Given the description of an element on the screen output the (x, y) to click on. 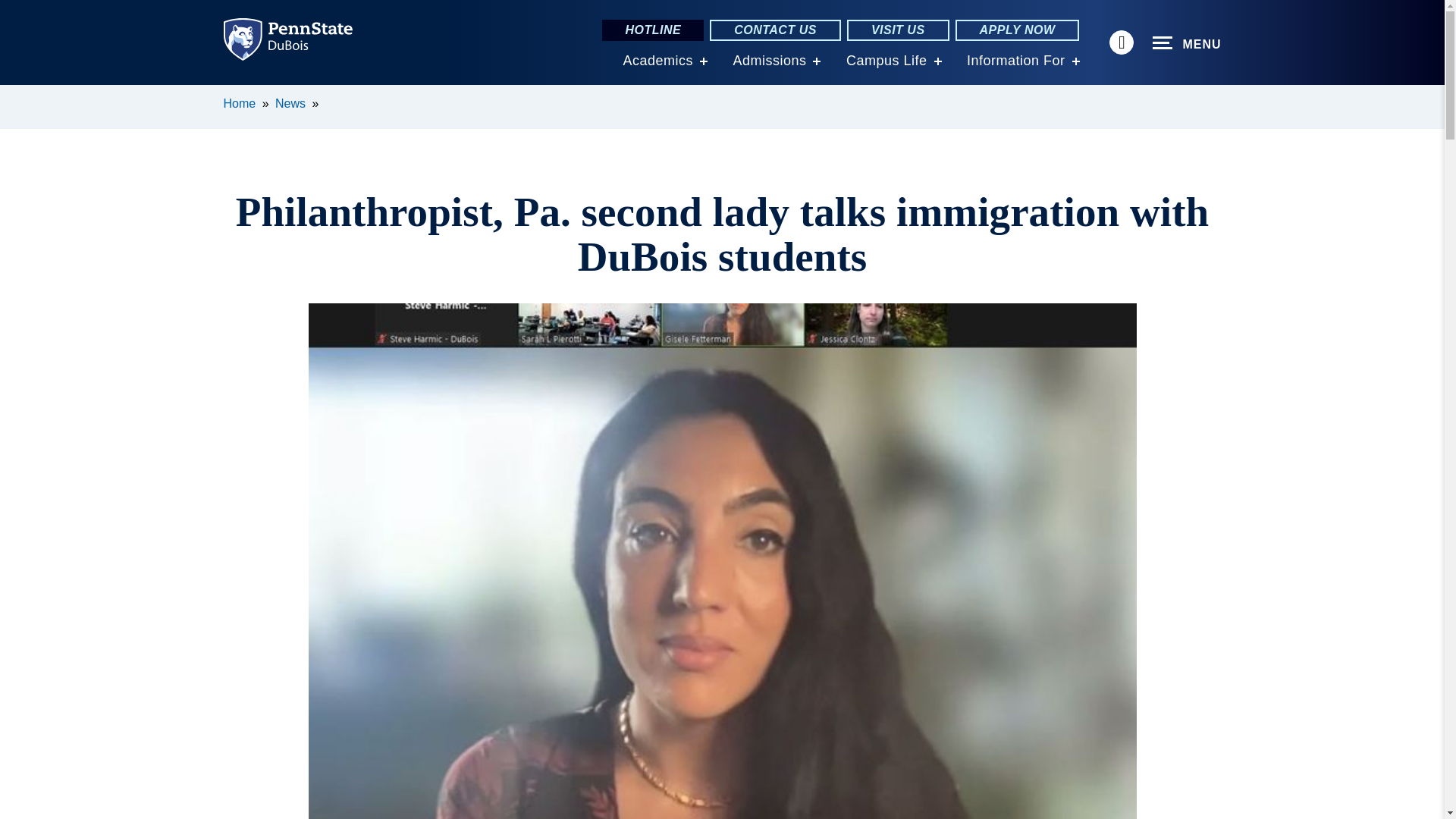
Campus Life (886, 60)
Academics (658, 60)
CONTACT US (775, 29)
Information For (1015, 60)
MENU (1187, 43)
Admissions (769, 60)
HOTLINE (652, 29)
SKIP TO MAIN CONTENT (19, 95)
VISIT US (898, 29)
APPLY NOW (1017, 29)
